Given the description of an element on the screen output the (x, y) to click on. 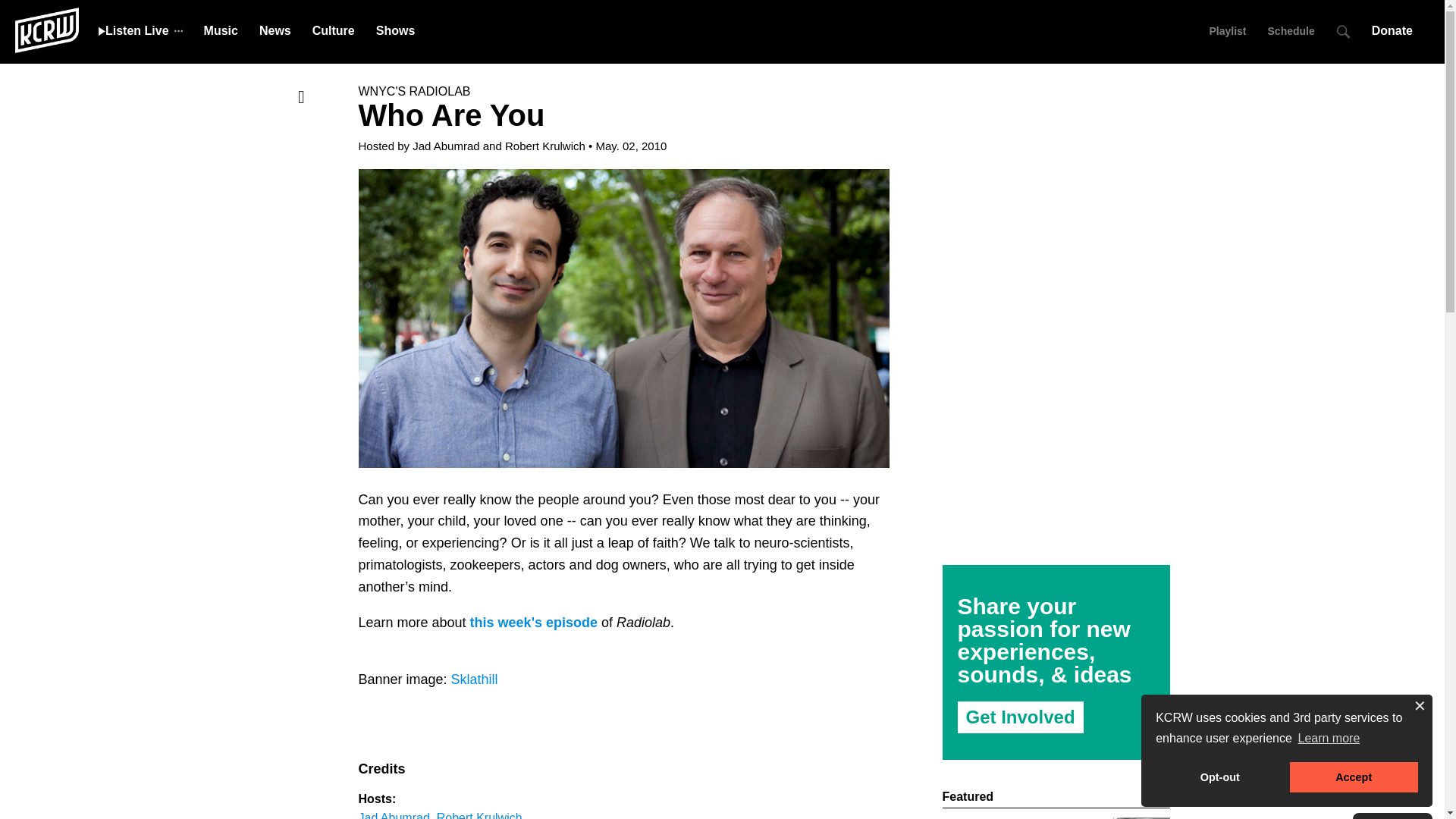
Donate (1397, 30)
Schedule (1291, 30)
Playlist (1227, 30)
News (275, 30)
Music (220, 30)
Culture (334, 30)
Share via Email (301, 158)
Robert Krulwich (479, 815)
Opt-out (1220, 777)
Robert Krulwich (545, 145)
Accept (1354, 777)
KCRW (46, 29)
Jad Abumrad (445, 145)
Sklathill (474, 679)
Listen Live (133, 30)
